Given the description of an element on the screen output the (x, y) to click on. 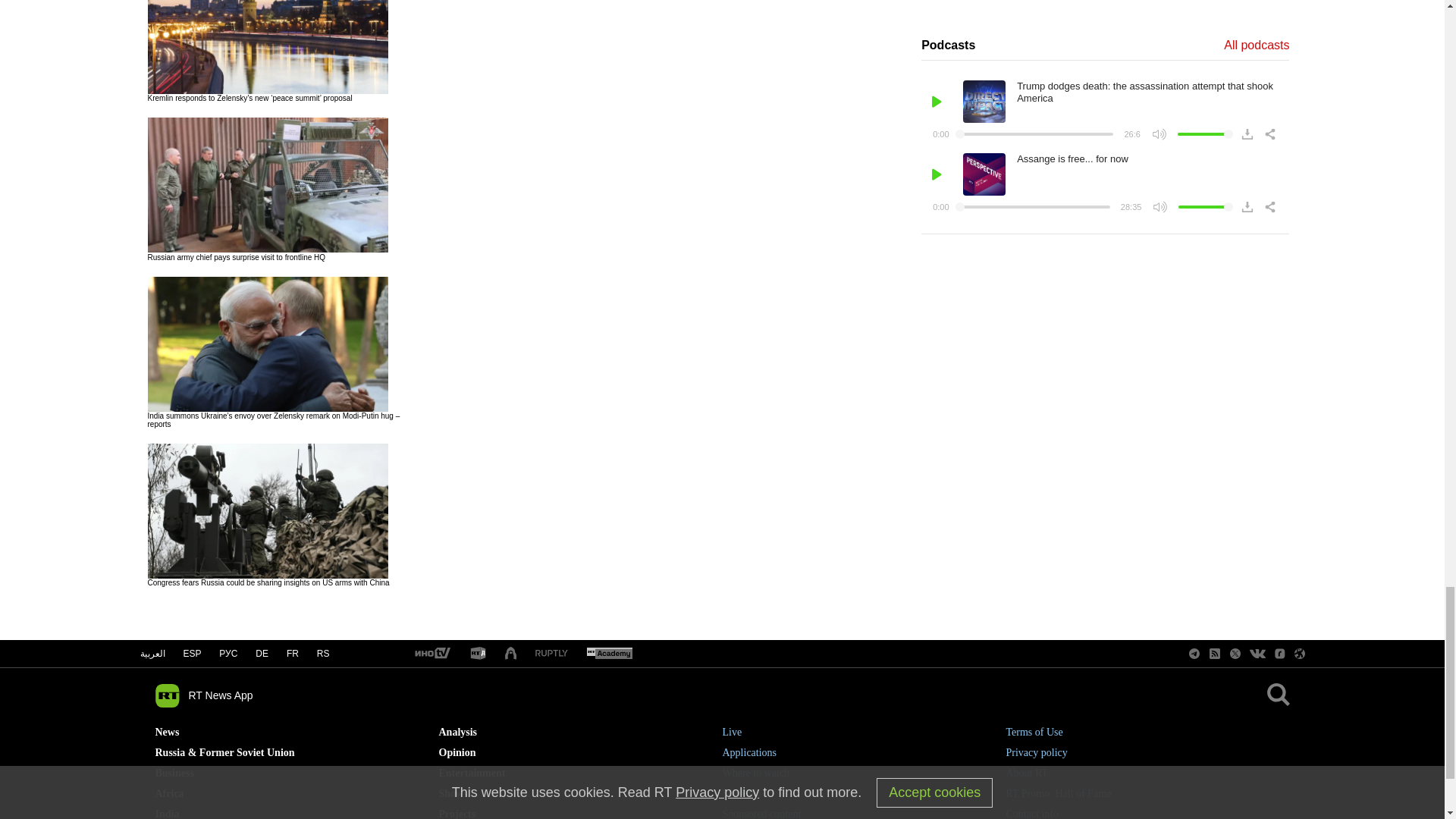
RT  (431, 653)
RT  (608, 653)
RT  (551, 654)
RT  (478, 653)
